Given the description of an element on the screen output the (x, y) to click on. 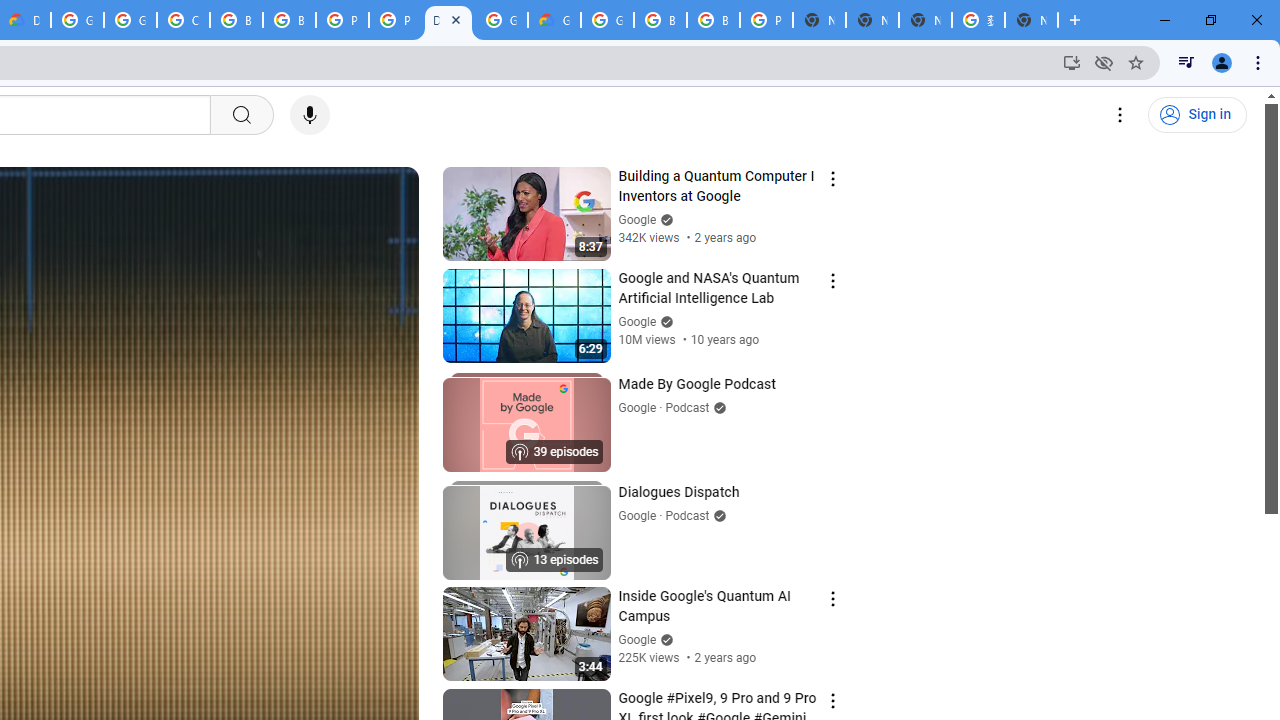
Search with your voice (309, 115)
Google Cloud Platform (501, 20)
New Tab (819, 20)
Google Cloud Platform (607, 20)
Action menu (832, 700)
Browse Chrome as a guest - Computer - Google Chrome Help (660, 20)
Browse Chrome as a guest - Computer - Google Chrome Help (235, 20)
